Given the description of an element on the screen output the (x, y) to click on. 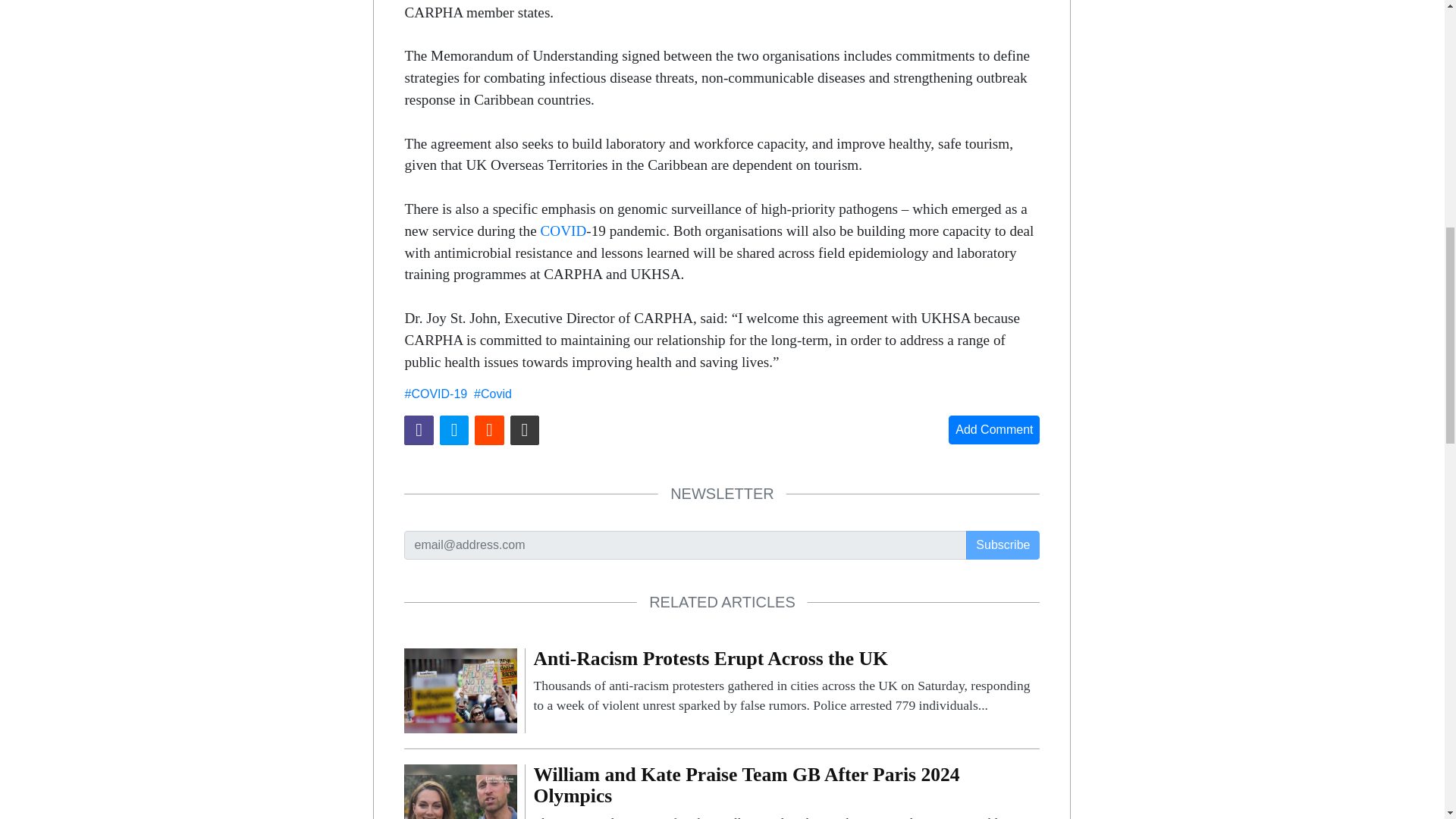
Add Comment (994, 429)
Anti-Racism Protests Erupt Across the UK (460, 689)
COVID (563, 230)
William and Kate Praise Team GB After Paris 2024 Olympics (460, 805)
Anti-Racism Protests Erupt Across the UK (785, 681)
Subscribe (1002, 544)
William and Kate Praise Team GB After Paris 2024 Olympics (785, 791)
